Given the description of an element on the screen output the (x, y) to click on. 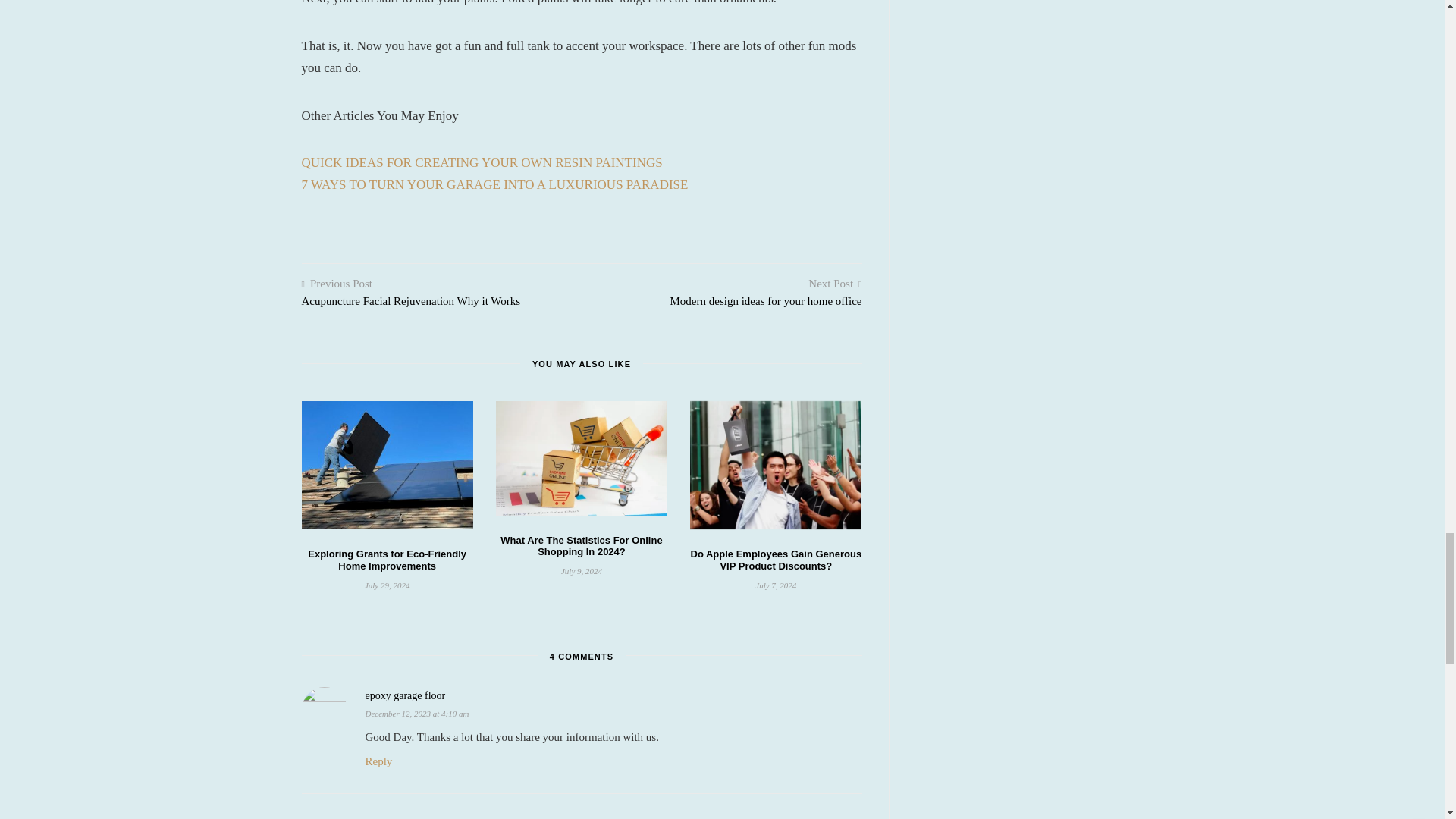
December 12, 2023 at 4:10 am (416, 713)
QUICK IDEAS FOR CREATING YOUR OWN RESIN PAINTINGS (481, 162)
What Are The Statistics For Online Shopping In 2024? (581, 545)
Modern design ideas for your home office (765, 300)
Do Apple Employees Gain Generous VIP Product Discounts? (775, 559)
Exploring Grants for Eco-Friendly Home Improvements (386, 559)
Acupuncture Facial Rejuvenation Why it Works (411, 300)
7 WAYS TO TURN YOUR GARAGE INTO A LUXURIOUS PARADISE (494, 184)
